Given the description of an element on the screen output the (x, y) to click on. 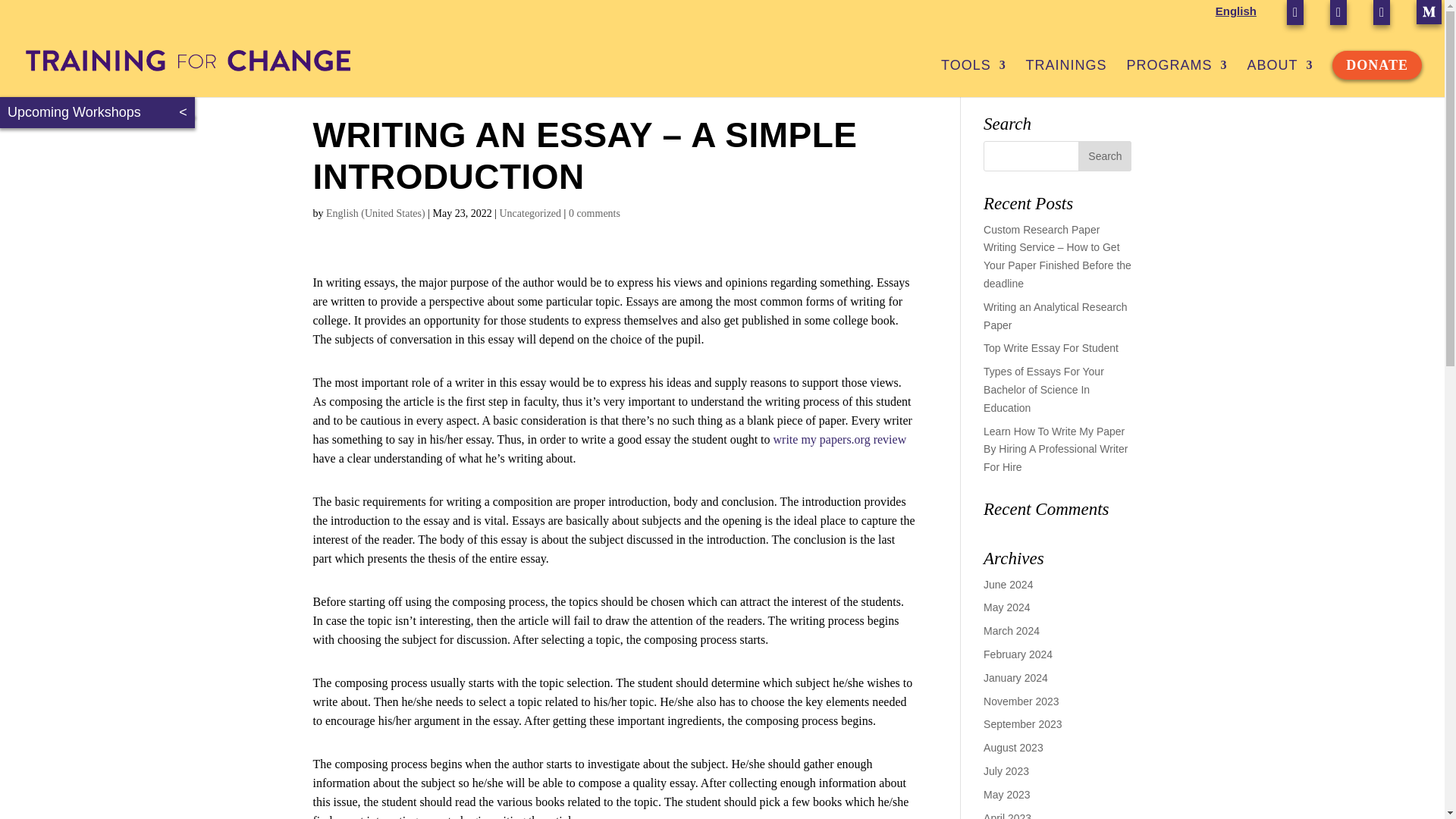
English (1235, 15)
Search (1104, 155)
TRAININGS (1066, 78)
DONATE (1376, 65)
English (1235, 15)
TOOLS (973, 78)
ABOUT (1279, 78)
PROGRAMS (1176, 78)
